Given the description of an element on the screen output the (x, y) to click on. 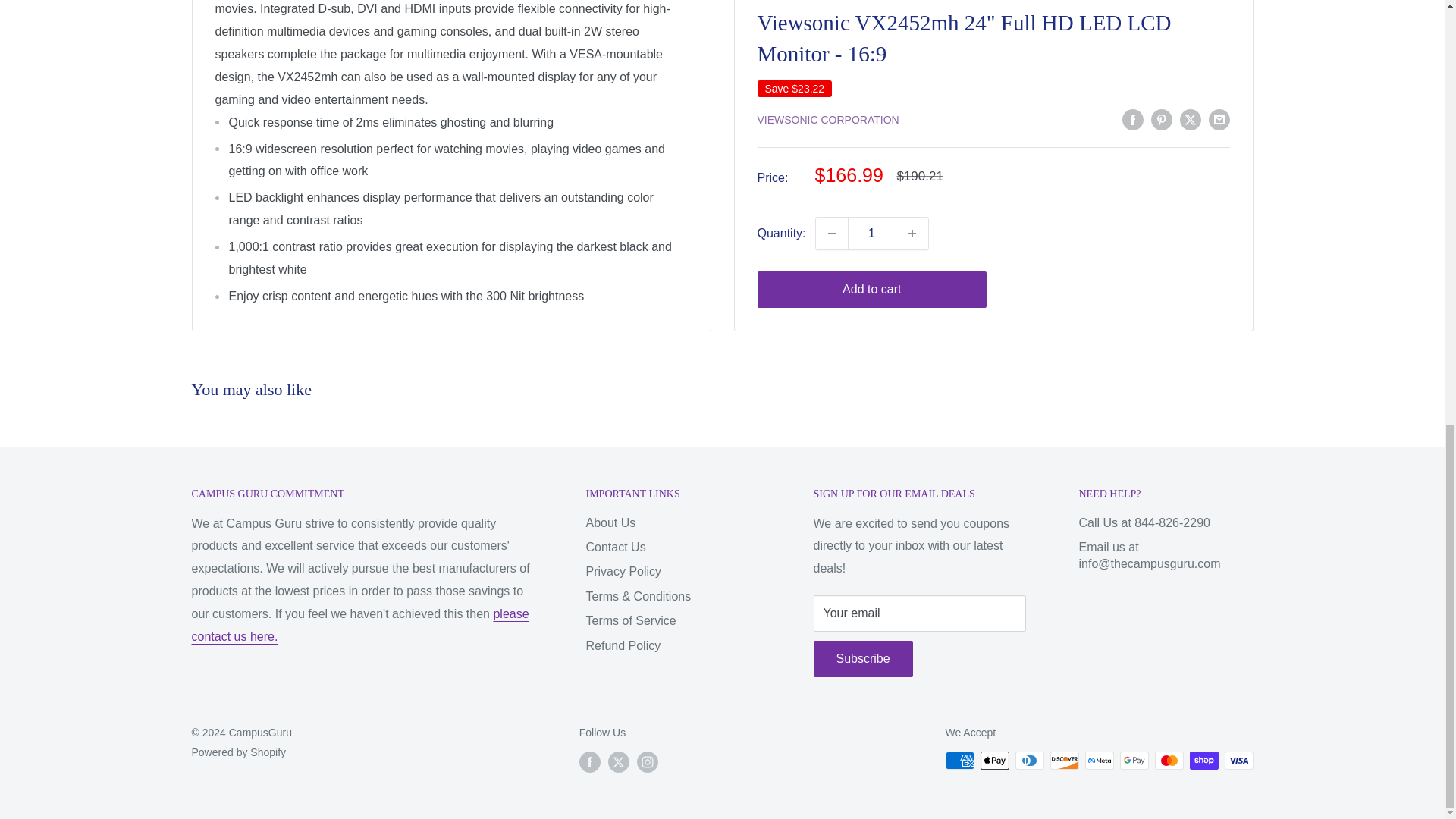
Contact (359, 624)
